Given the description of an element on the screen output the (x, y) to click on. 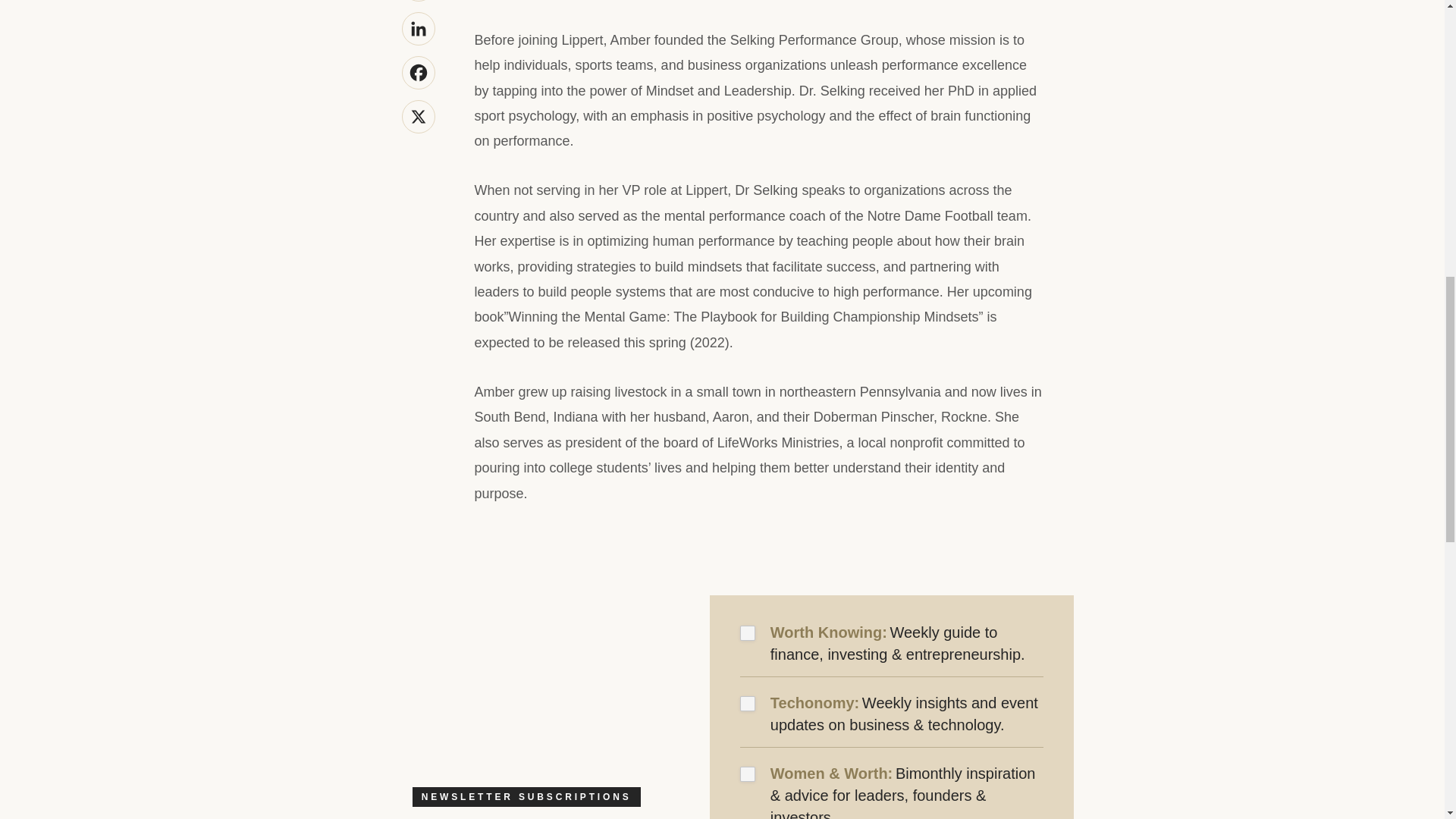
Linkedin (418, 28)
Facebook (418, 72)
yes (747, 774)
yes (747, 703)
X (418, 116)
yes (747, 632)
Copy Link (418, 0)
